Given the description of an element on the screen output the (x, y) to click on. 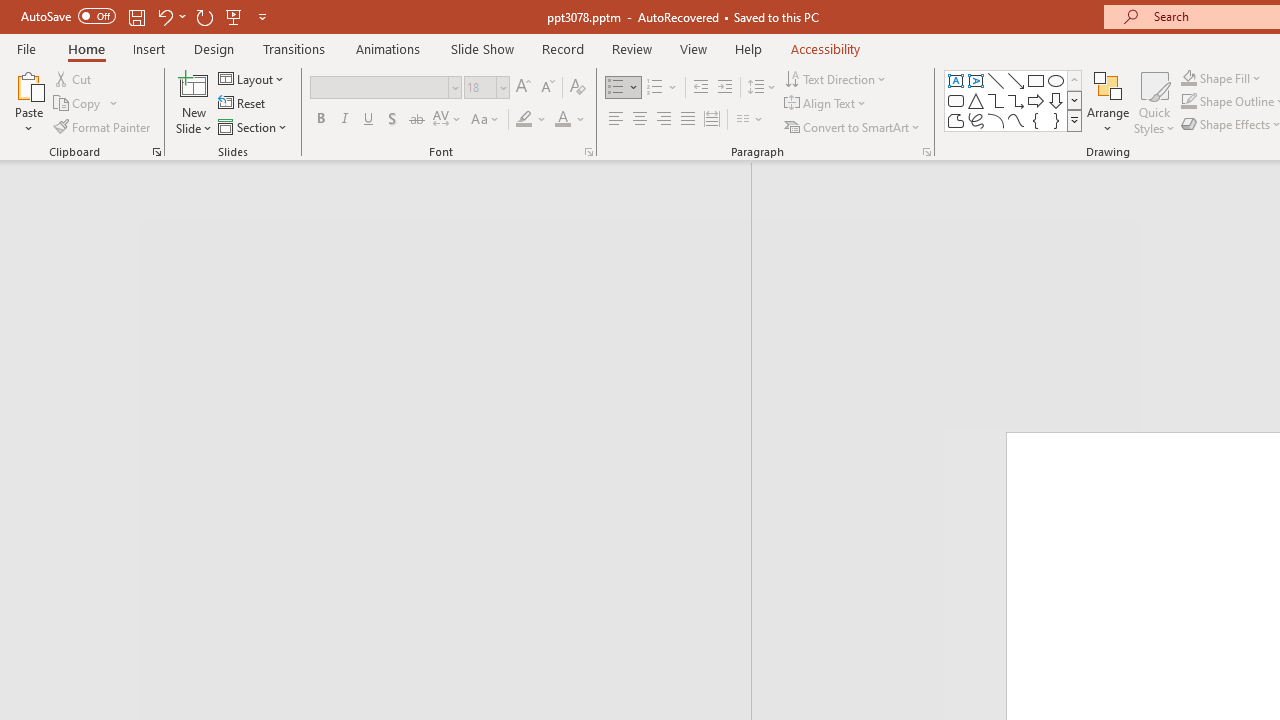
Line Spacing (762, 87)
Shadow (392, 119)
Isosceles Triangle (975, 100)
Right Brace (1055, 120)
Character Spacing (447, 119)
